Given the description of an element on the screen output the (x, y) to click on. 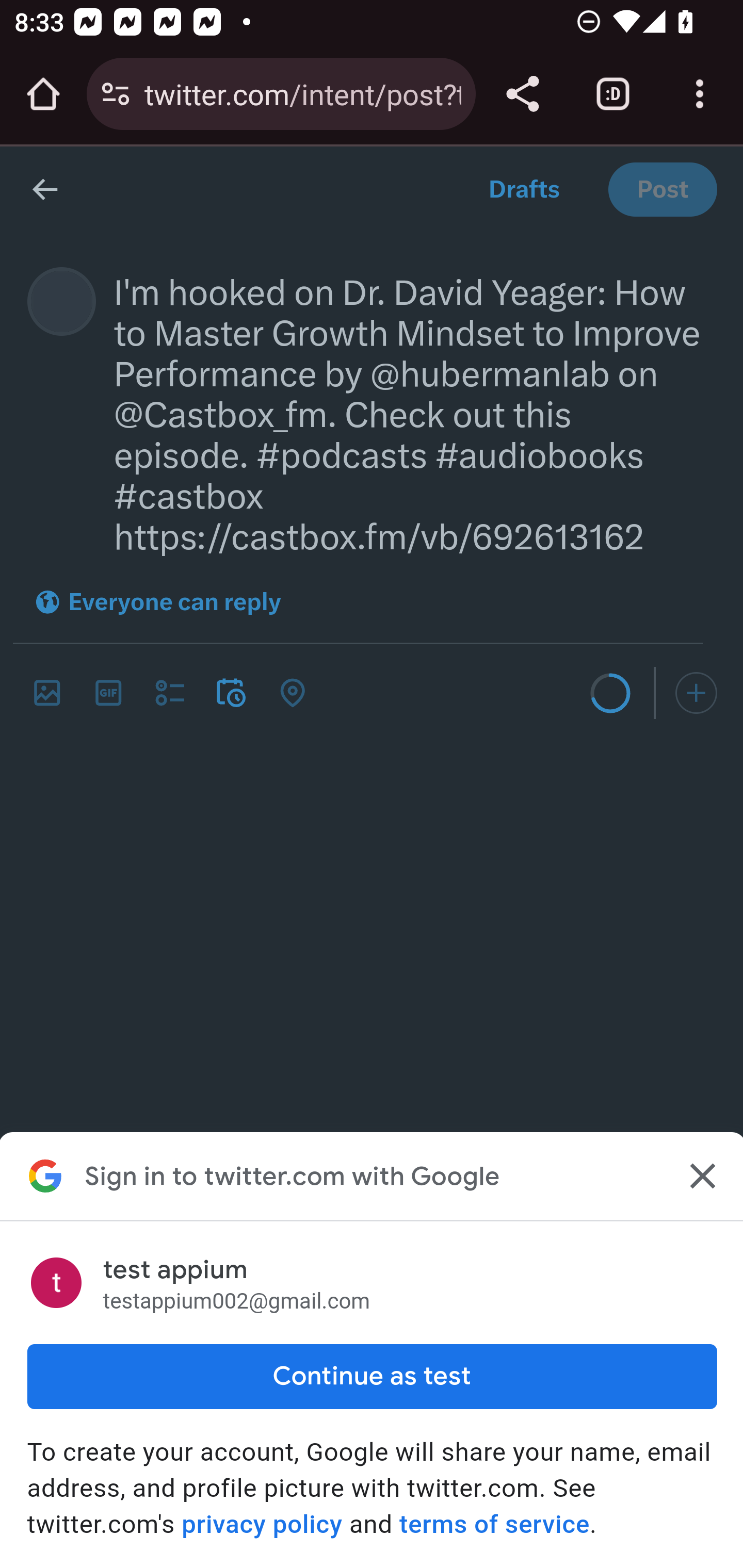
Open the home page (43, 93)
Connection is secure (115, 93)
Share (522, 93)
Switch or close tabs (612, 93)
Customize and control Google Chrome (699, 93)
Close (700, 1175)
Continue as test (371, 1376)
privacy policy (261, 1523)
terms of service (493, 1523)
